Given the description of an element on the screen output the (x, y) to click on. 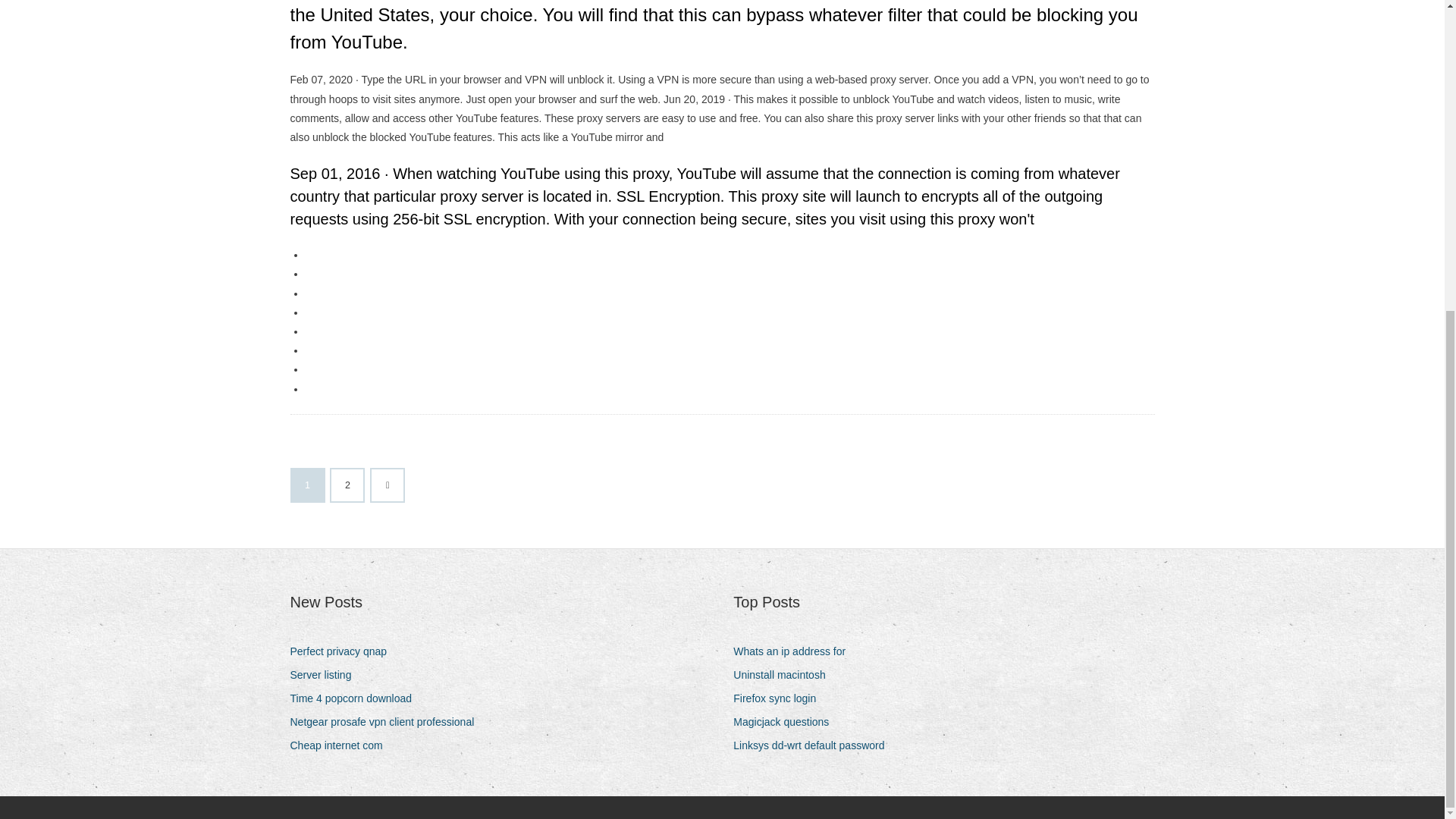
Netgear prosafe vpn client professional (386, 721)
2 (346, 485)
Perfect privacy qnap (343, 651)
Time 4 popcorn download (356, 698)
Magicjack questions (786, 721)
Firefox sync login (780, 698)
Linksys dd-wrt default password (814, 745)
Server listing (325, 675)
Cheap internet com (341, 745)
Uninstall macintosh (784, 675)
